Given the description of an element on the screen output the (x, y) to click on. 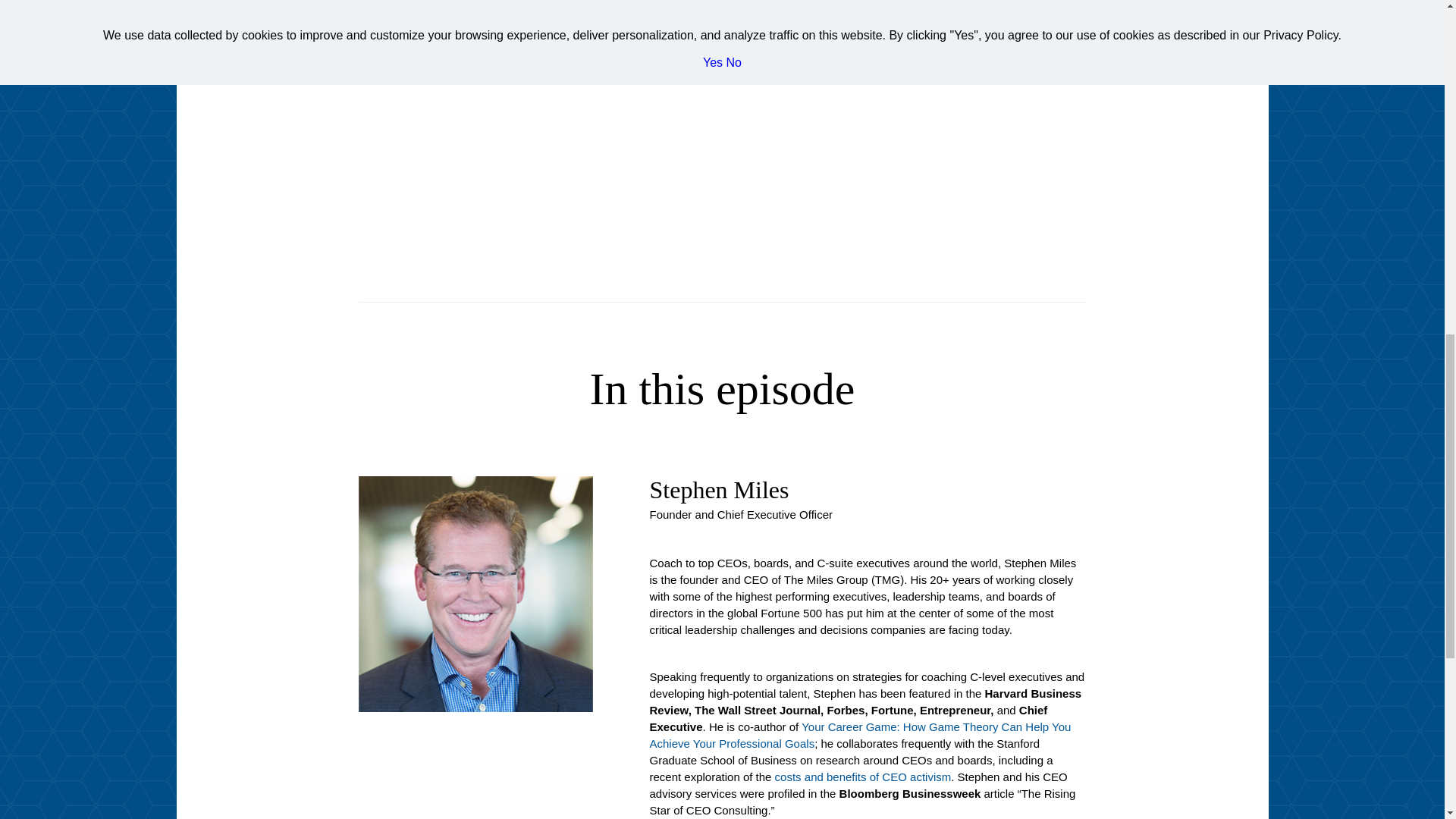
costs and benefits of CEO activism (863, 776)
